Given the description of an element on the screen output the (x, y) to click on. 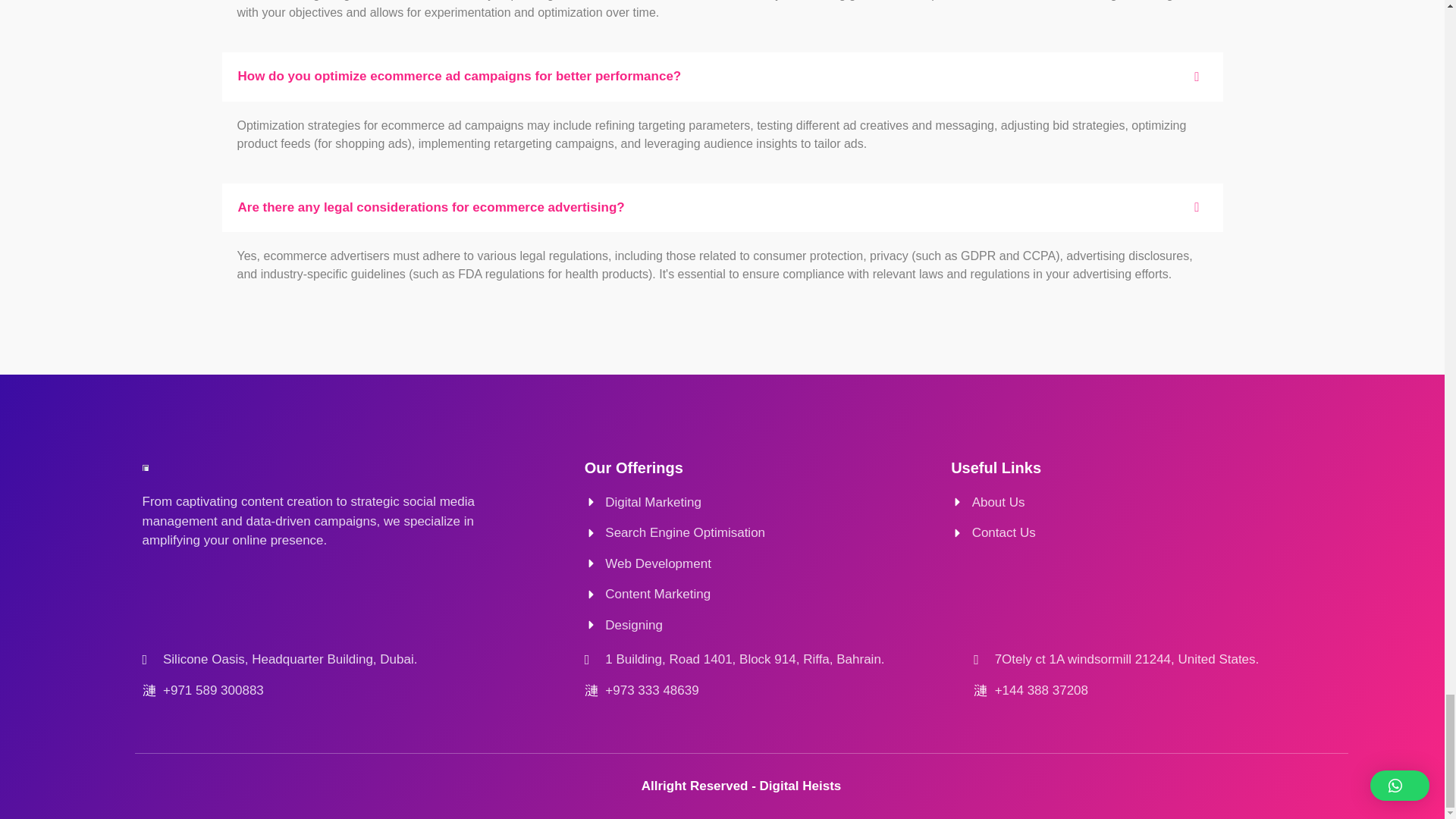
Digital Marketing (760, 502)
